Given the description of an element on the screen output the (x, y) to click on. 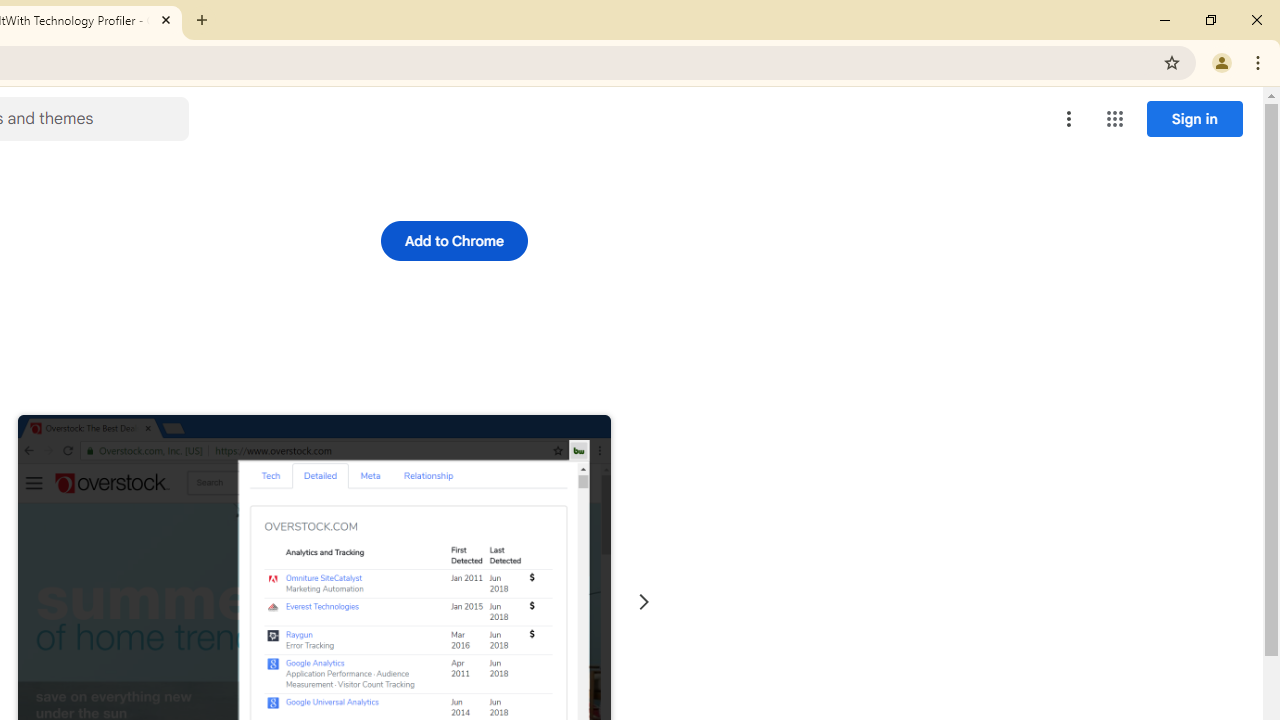
Add to Chrome (453, 240)
More options menu (1069, 118)
Next slide (643, 601)
